Given the description of an element on the screen output the (x, y) to click on. 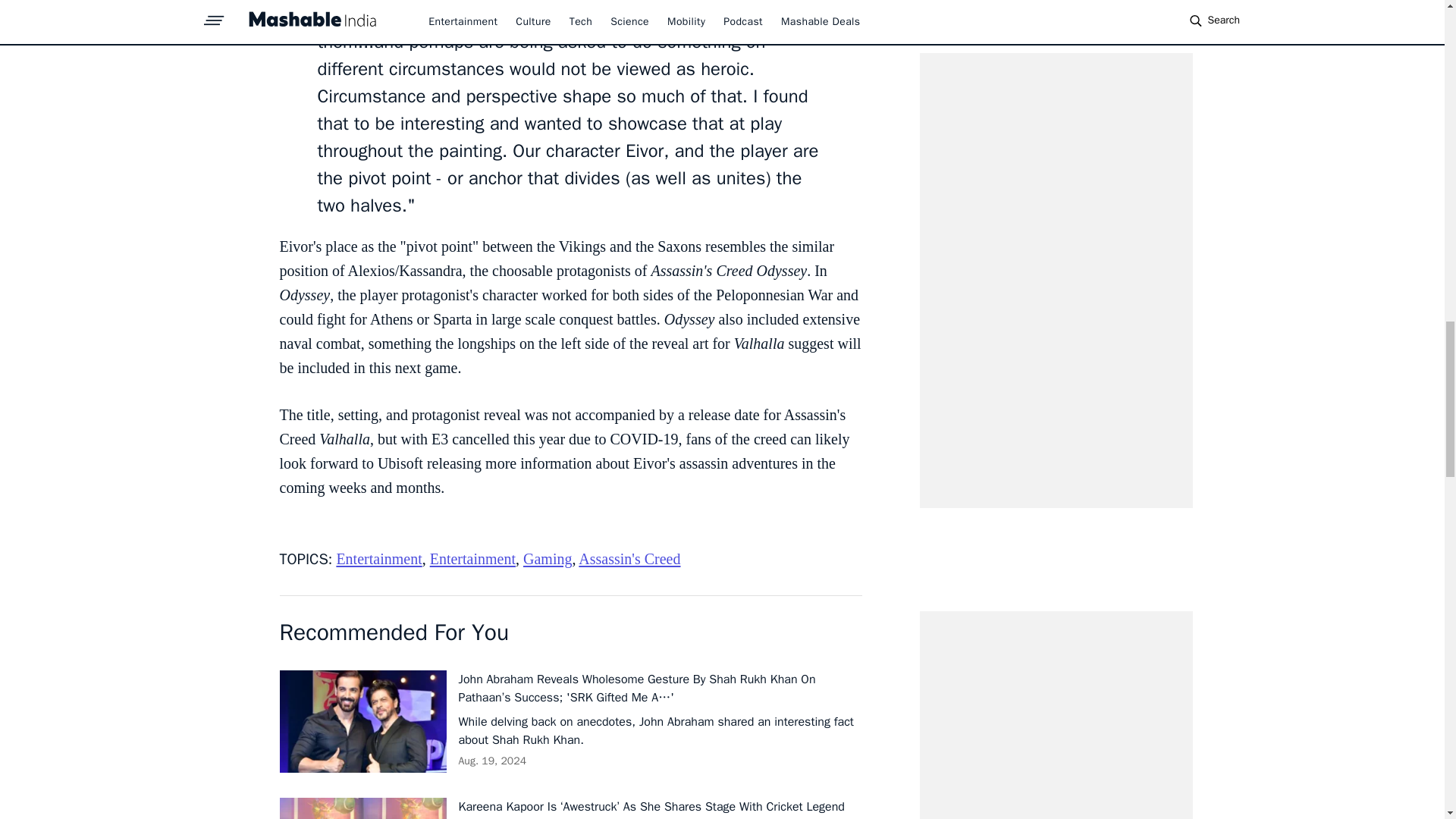
Entertainment (379, 558)
Assassin's Creed (628, 558)
Gaming (547, 558)
Entertainment (472, 558)
